Given the description of an element on the screen output the (x, y) to click on. 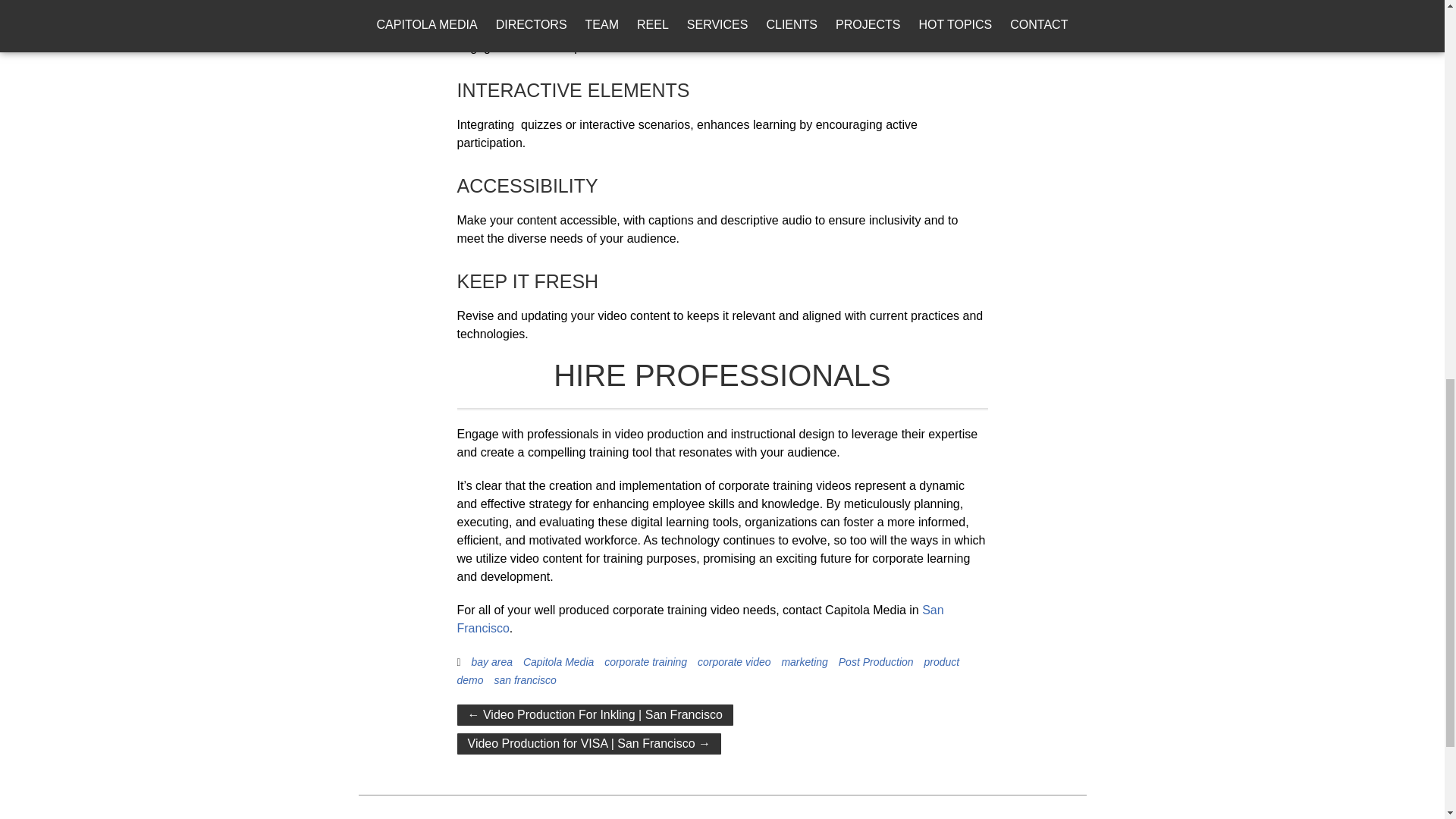
Capitola Media (558, 662)
San Francisco (700, 618)
san francisco (524, 680)
product demo (708, 671)
corporate training (645, 662)
Post Production (876, 662)
marketing (803, 662)
bay area (491, 662)
corporate video (734, 662)
